Given the description of an element on the screen output the (x, y) to click on. 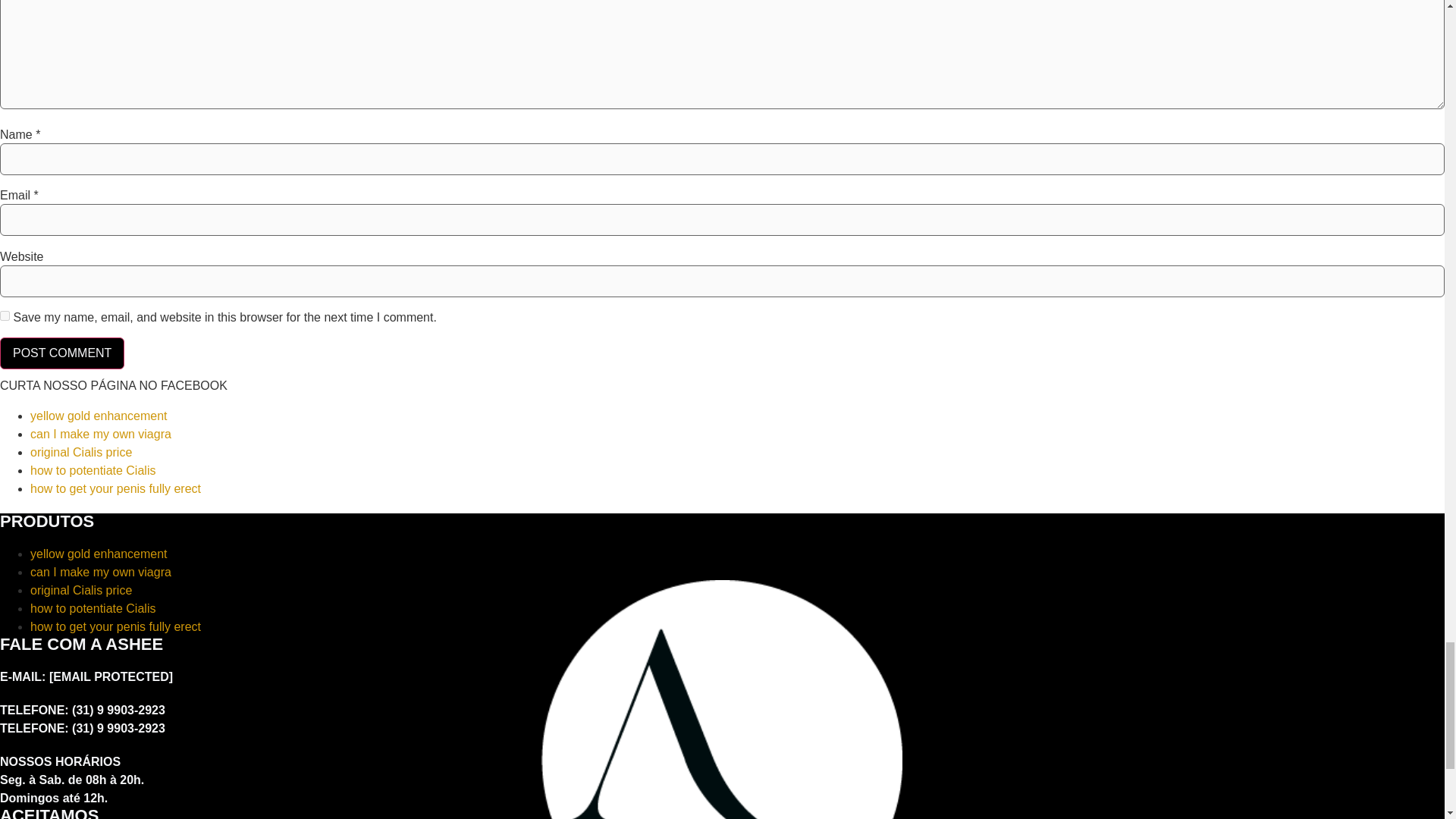
Post Comment (61, 353)
how to potentiate Cialis (92, 470)
how to potentiate Cialis (92, 608)
Post Comment (61, 353)
how to get your penis fully erect (115, 626)
original Cialis price (81, 451)
yellow gold enhancement (98, 415)
original Cialis price (81, 590)
can I make my own viagra (100, 571)
how to get your penis fully erect (115, 488)
yellow gold enhancement (98, 553)
yes (5, 316)
can I make my own viagra (100, 433)
